Given the description of an element on the screen output the (x, y) to click on. 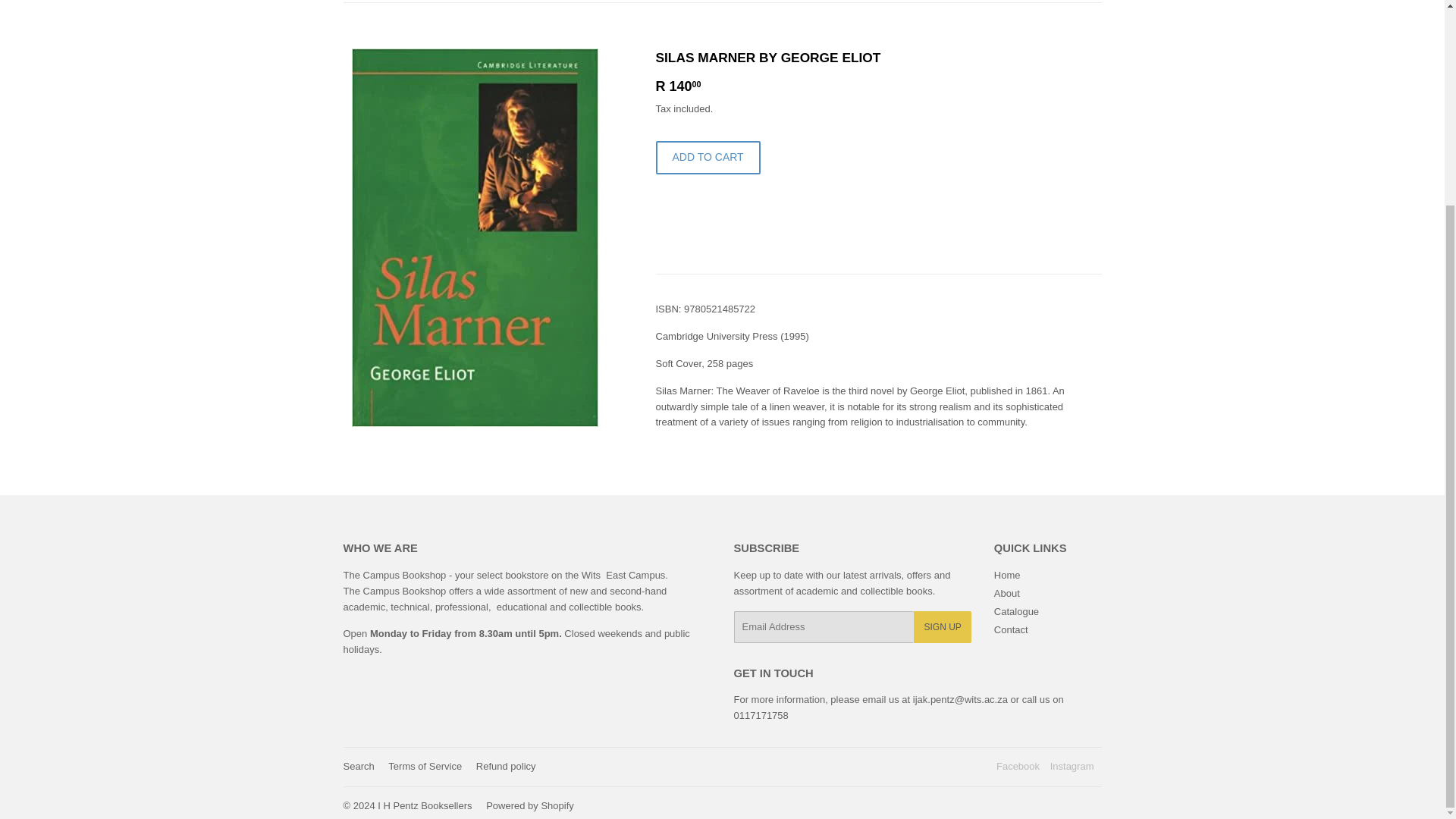
Catalogue (1016, 611)
Terms of Service (424, 766)
Home (1007, 574)
Powered by Shopify (529, 805)
Contact (1010, 629)
I H Pentz Booksellers on Facebook (1017, 766)
Home (358, 1)
Search (358, 766)
I H Pentz Booksellers on Instagram (1071, 766)
About (1007, 593)
